Given the description of an element on the screen output the (x, y) to click on. 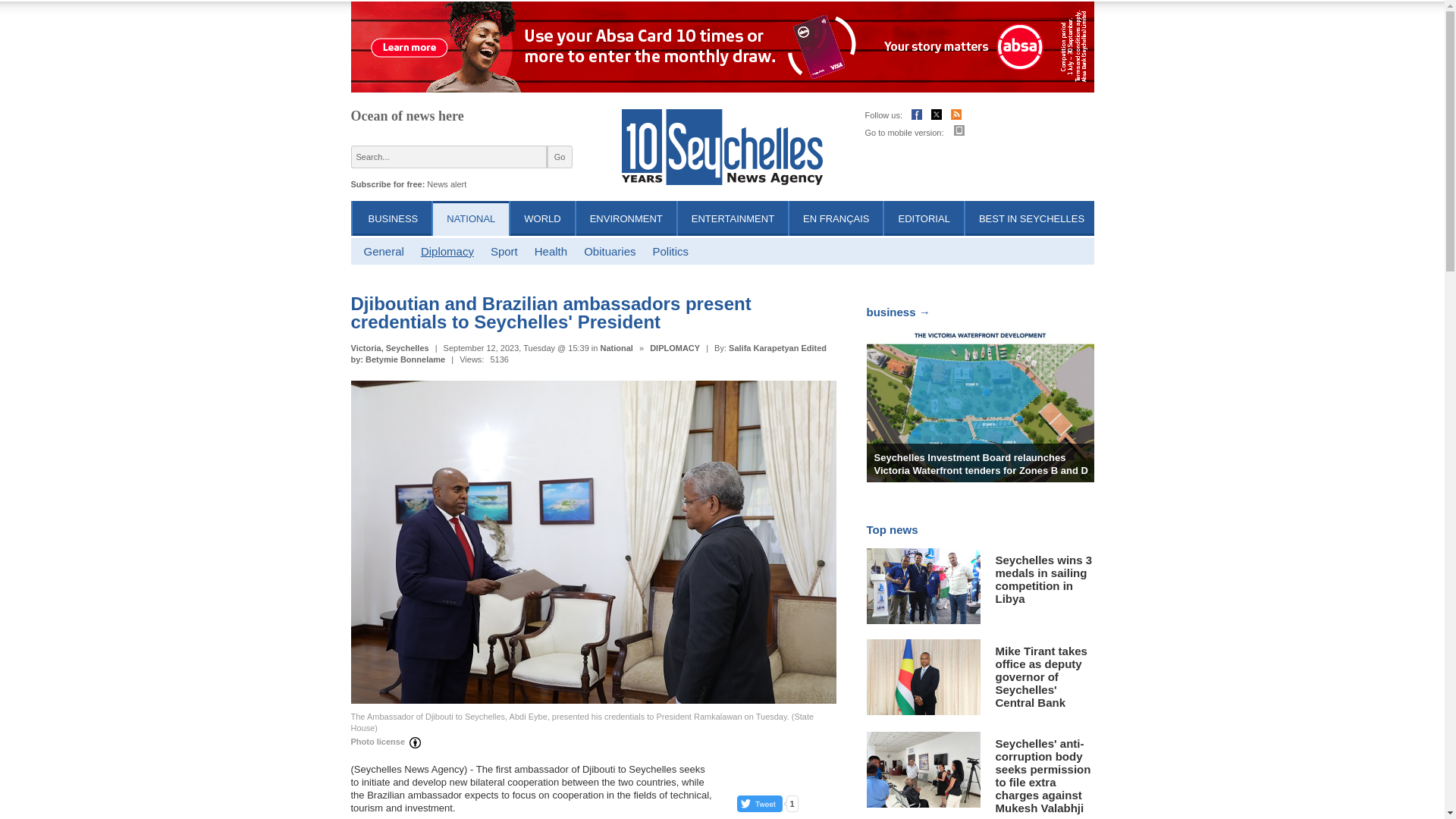
Entertainment (732, 218)
Diplomacy (447, 250)
Health (550, 250)
News alert (445, 184)
Seychelles Business News (393, 218)
DIPLOMACY (674, 347)
Photo license   (387, 742)
Go (559, 156)
Obituaries (608, 250)
Sport (504, 250)
